Given the description of an element on the screen output the (x, y) to click on. 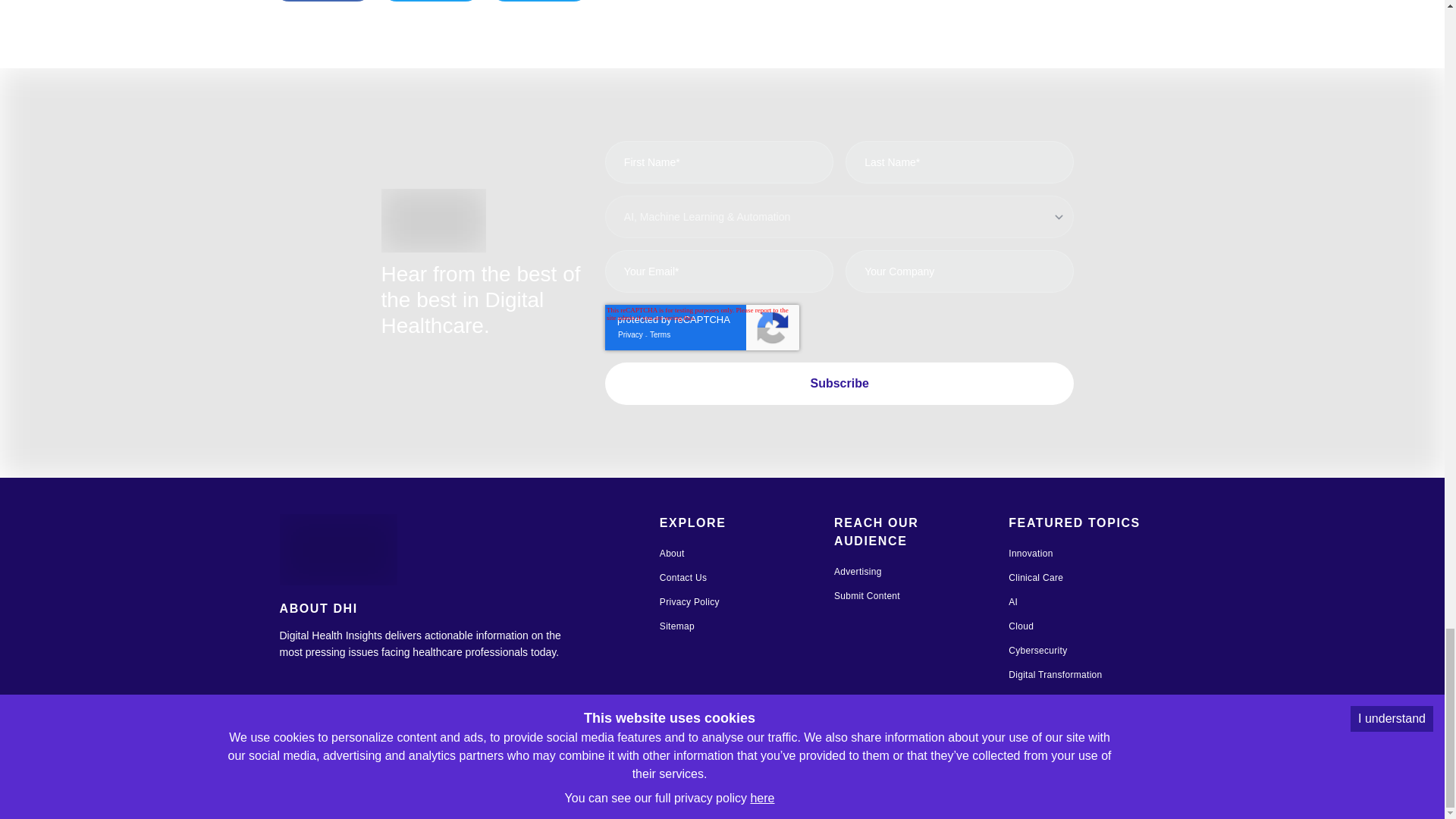
Subscribe (839, 383)
Advertising (858, 571)
Subscribe (839, 383)
Contact Us (682, 577)
Sitemap (676, 625)
About (671, 552)
Tweet (430, 0)
Privacy Policy (689, 602)
Share (322, 0)
Share (539, 0)
